Given the description of an element on the screen output the (x, y) to click on. 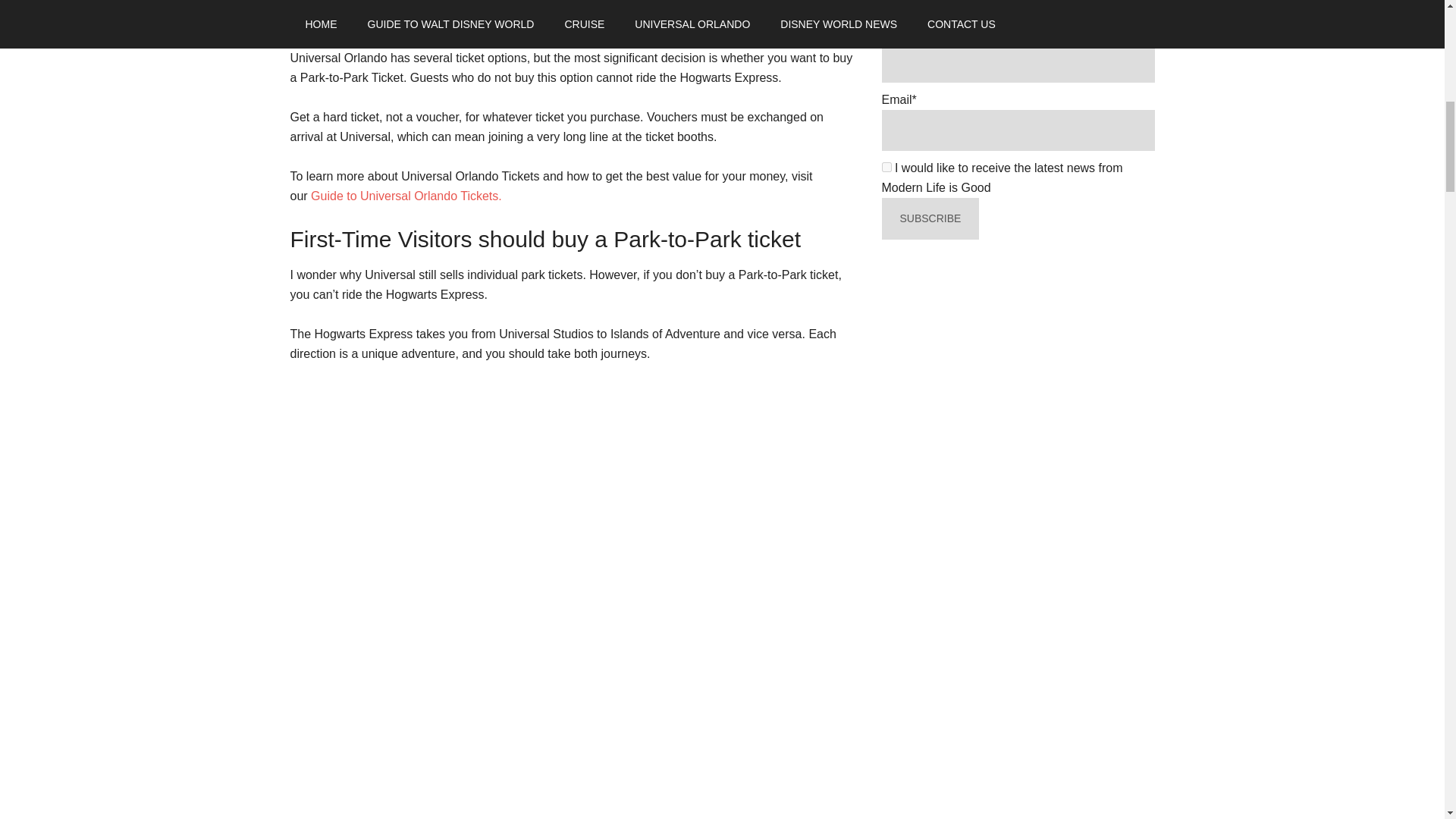
Subscribe (929, 218)
true (885, 166)
